Given the description of an element on the screen output the (x, y) to click on. 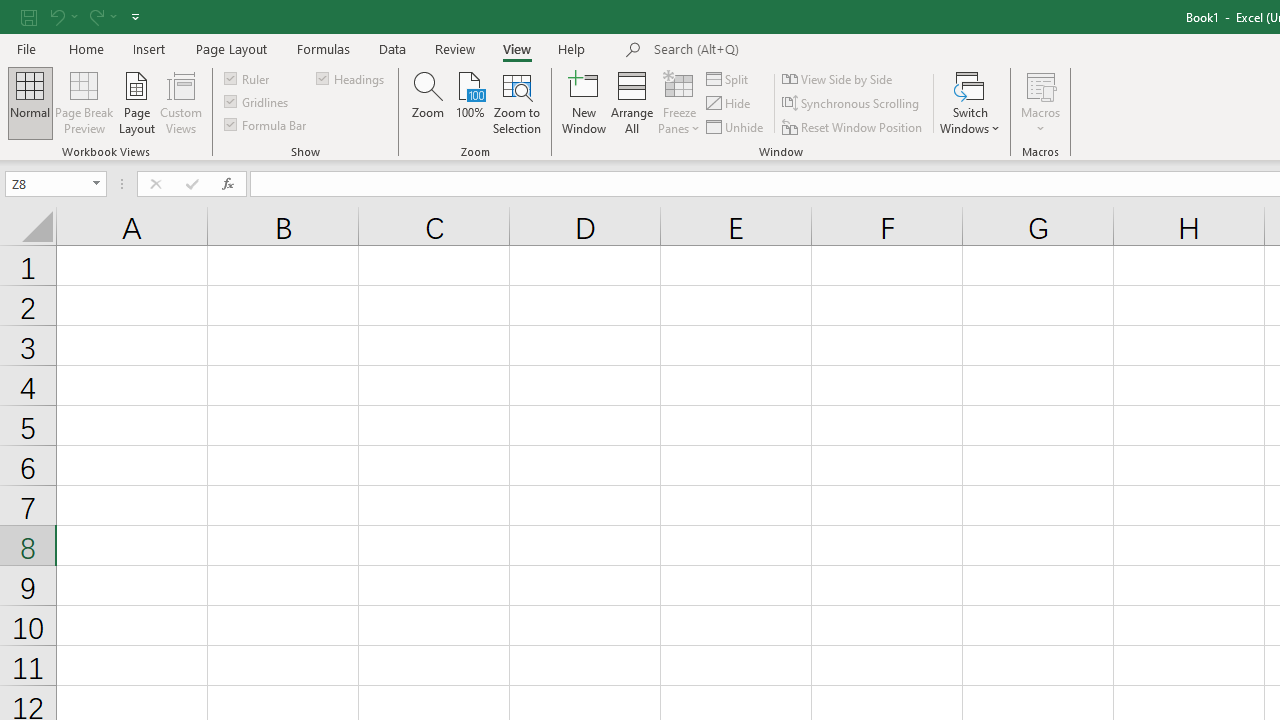
New Window (584, 102)
Split (728, 78)
Headings (351, 78)
Zoom to Selection (517, 102)
Ruler (248, 78)
